Given the description of an element on the screen output the (x, y) to click on. 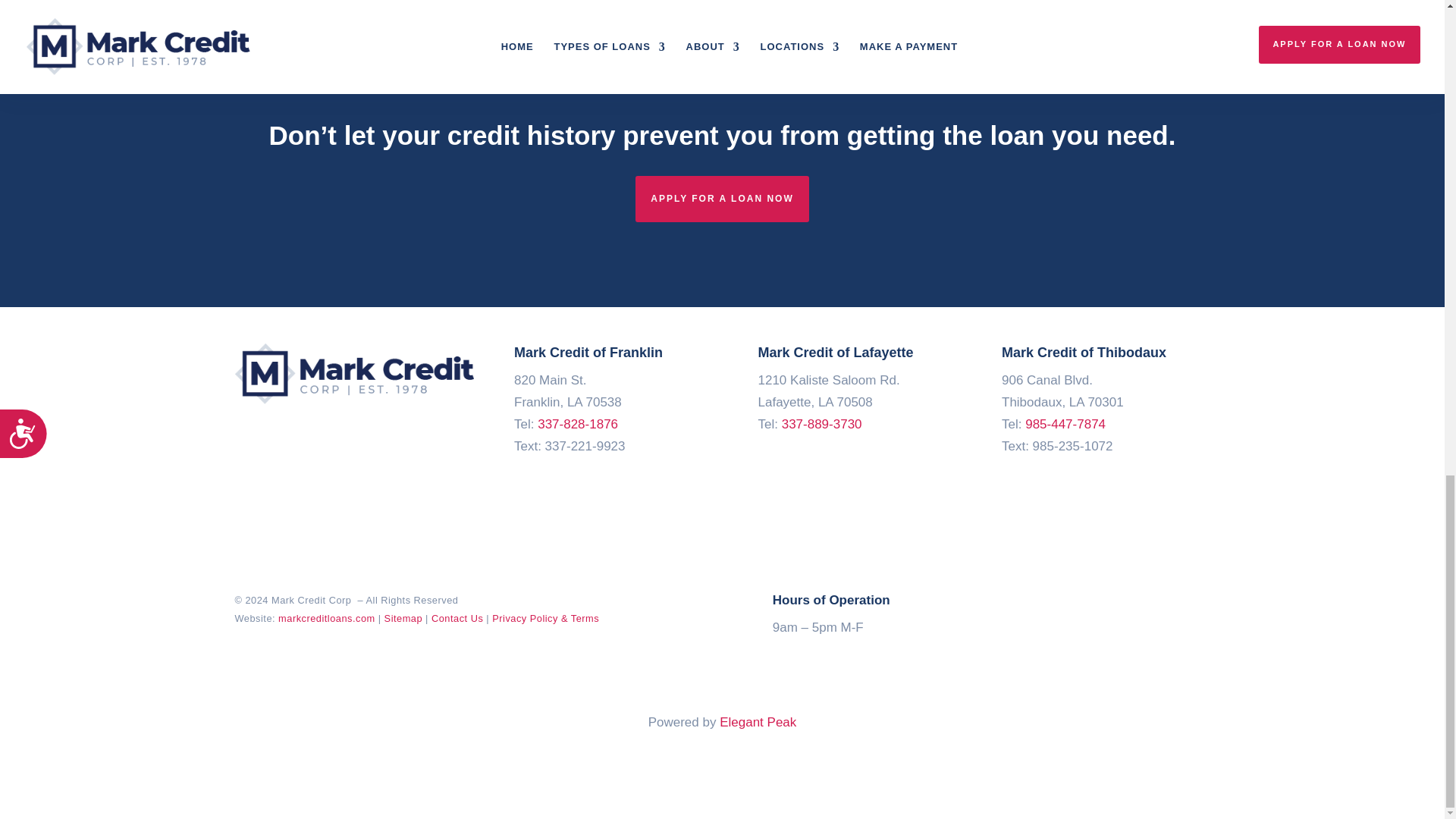
APPLY FOR A LOAN NOW (721, 198)
Elegant Peak (757, 721)
985-447-7874 (1065, 423)
Sitemap (403, 618)
Mark Credit Loans (356, 373)
markcreditloans.com (326, 618)
337-889-3730 (821, 423)
337-828-1876 (577, 423)
Contact Us (456, 618)
